Given the description of an element on the screen output the (x, y) to click on. 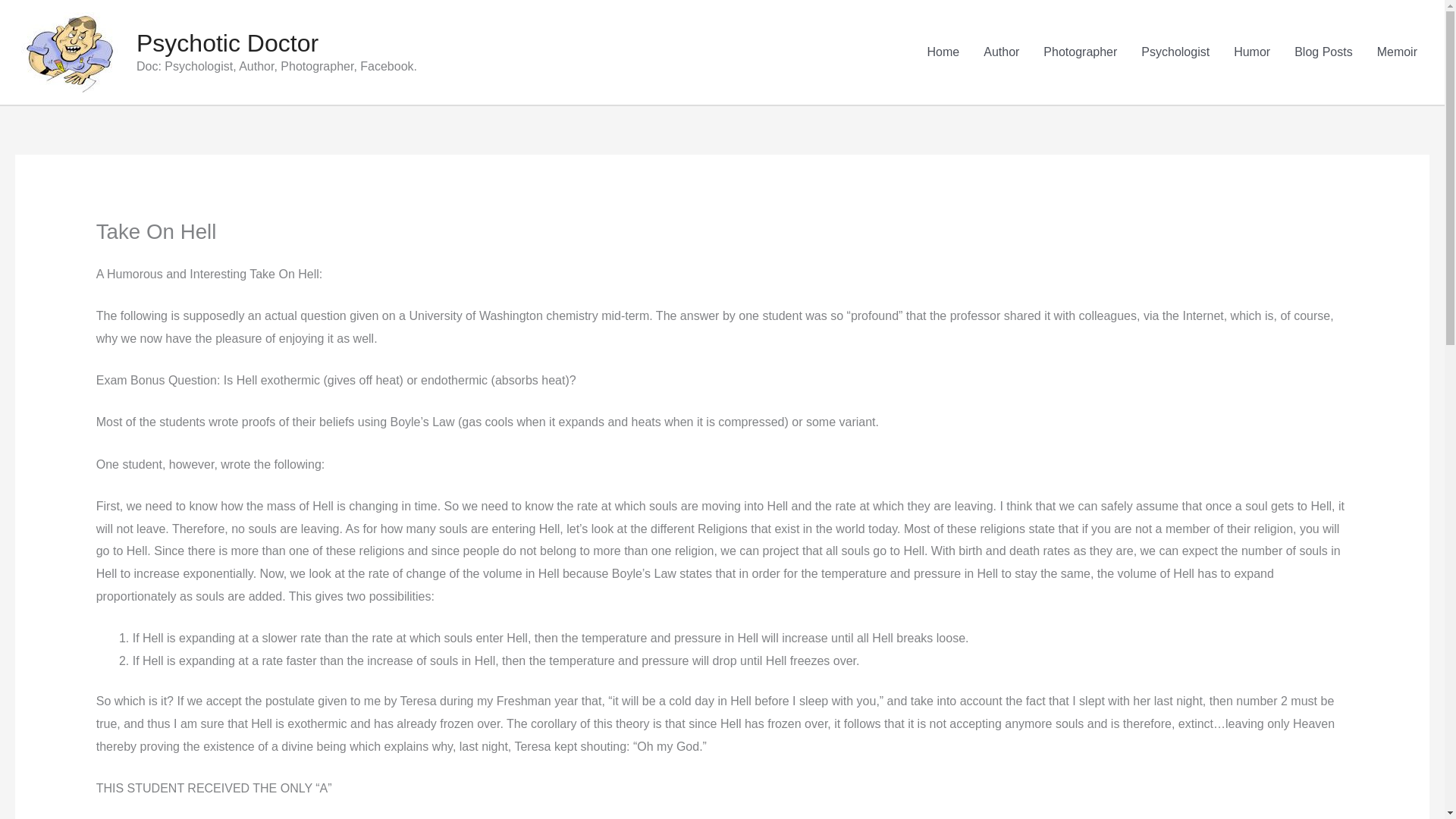
Blog Posts (1323, 51)
Memoir (1397, 51)
Home (943, 51)
Humor (1251, 51)
Psychotic Doctor (227, 42)
Psychologist (1175, 51)
Photographer (1079, 51)
Author (1000, 51)
